Given the description of an element on the screen output the (x, y) to click on. 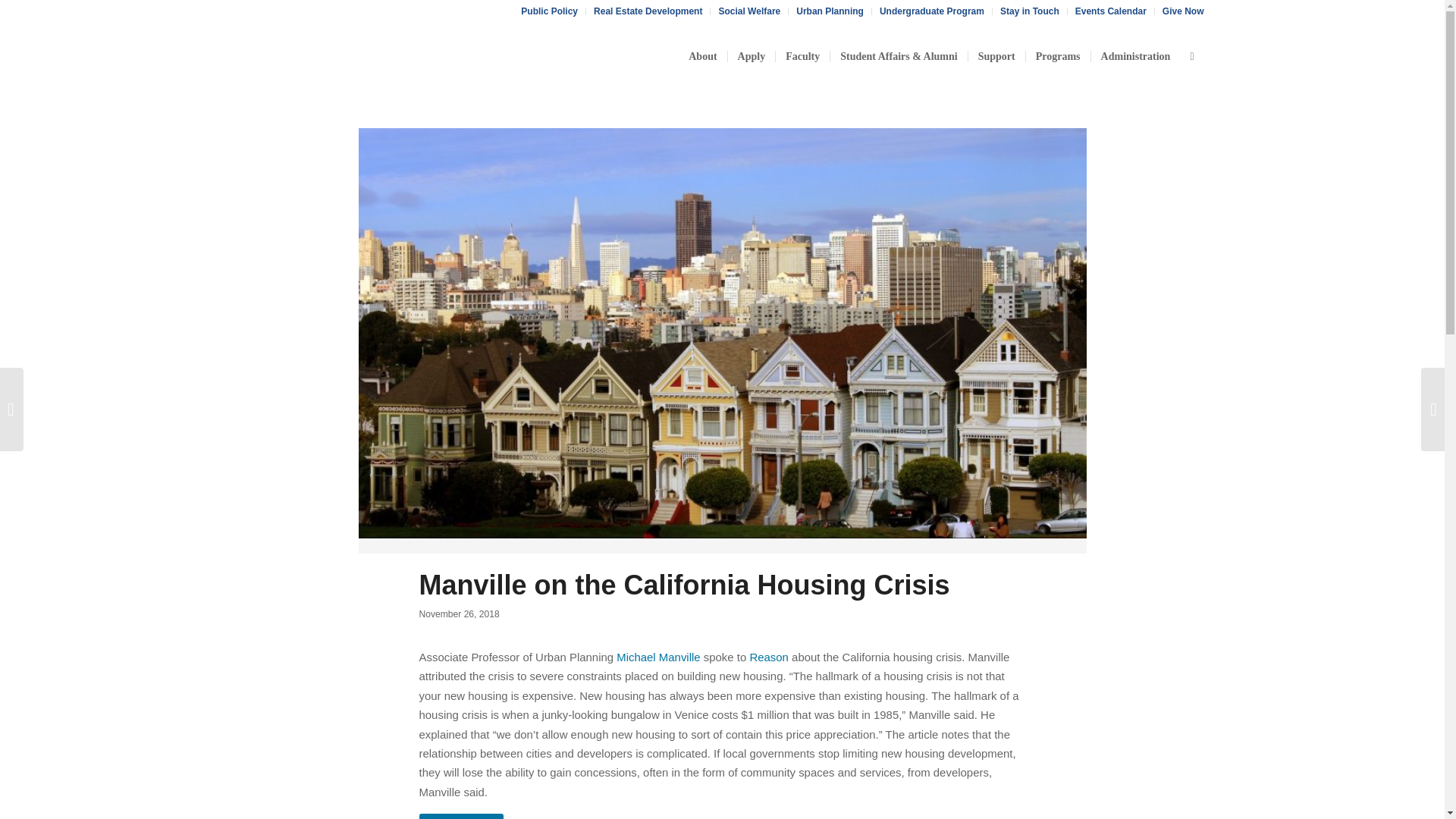
Urban Planning (829, 11)
Social Welfare (748, 11)
Public Policy (549, 11)
Stay in Touch (1029, 11)
Real Estate Development (647, 11)
Give Now (1182, 11)
Events Calendar (1111, 11)
Undergraduate Program (931, 11)
